Given the description of an element on the screen output the (x, y) to click on. 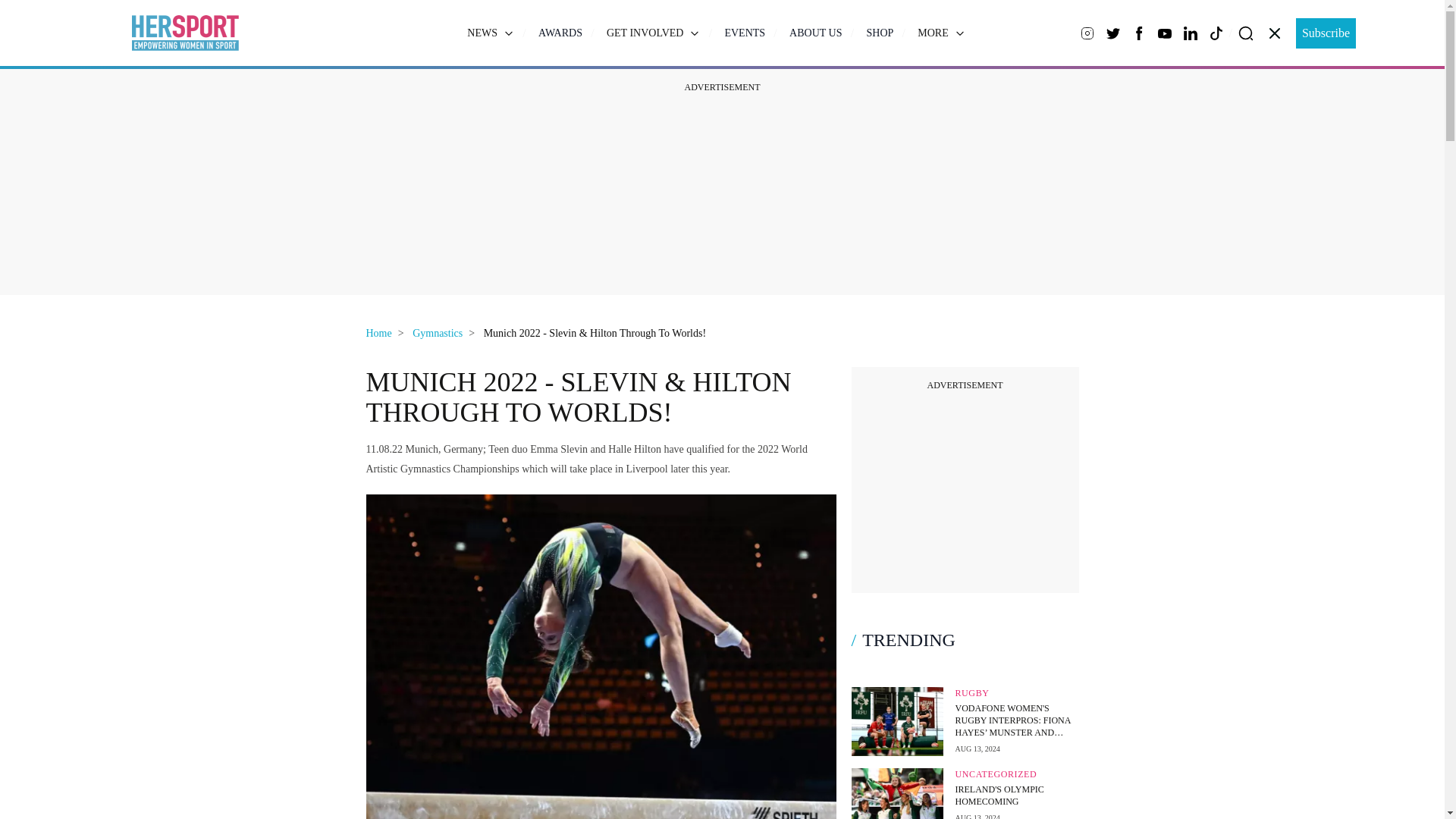
Close (1274, 33)
ABOUT US (815, 32)
SHOP (879, 32)
GET INVOLVED (653, 32)
MORE (940, 32)
Subscribe (1325, 33)
AWARDS (560, 32)
NEWS (490, 32)
EVENTS (744, 32)
